Given the description of an element on the screen output the (x, y) to click on. 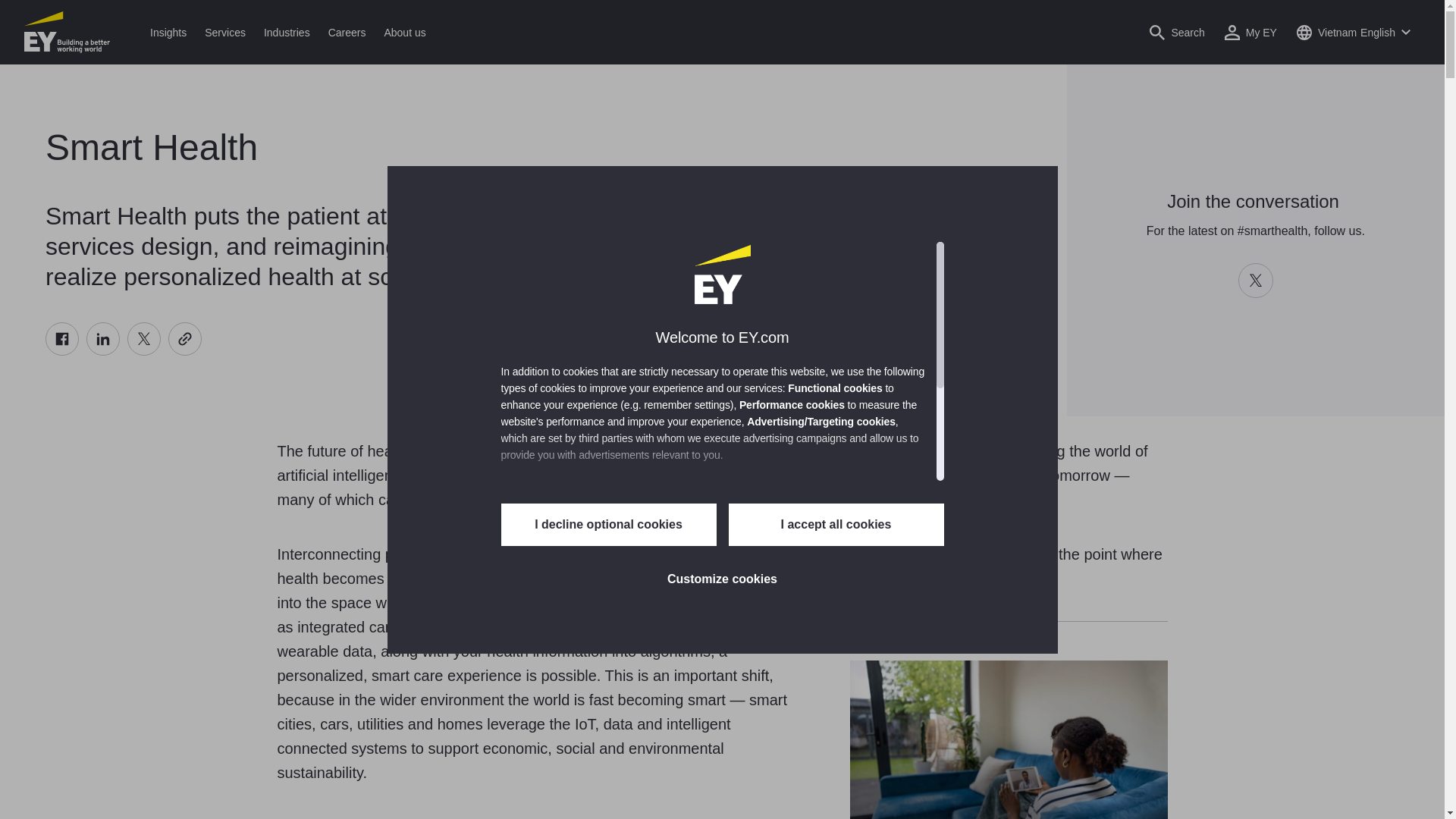
My EY (1251, 32)
Copy link (185, 338)
Open search (1176, 32)
Linkedin (102, 338)
EY Homepage (67, 32)
Facebook (61, 338)
Open country language switcher (1352, 32)
Social Media Share (123, 338)
